Given the description of an element on the screen output the (x, y) to click on. 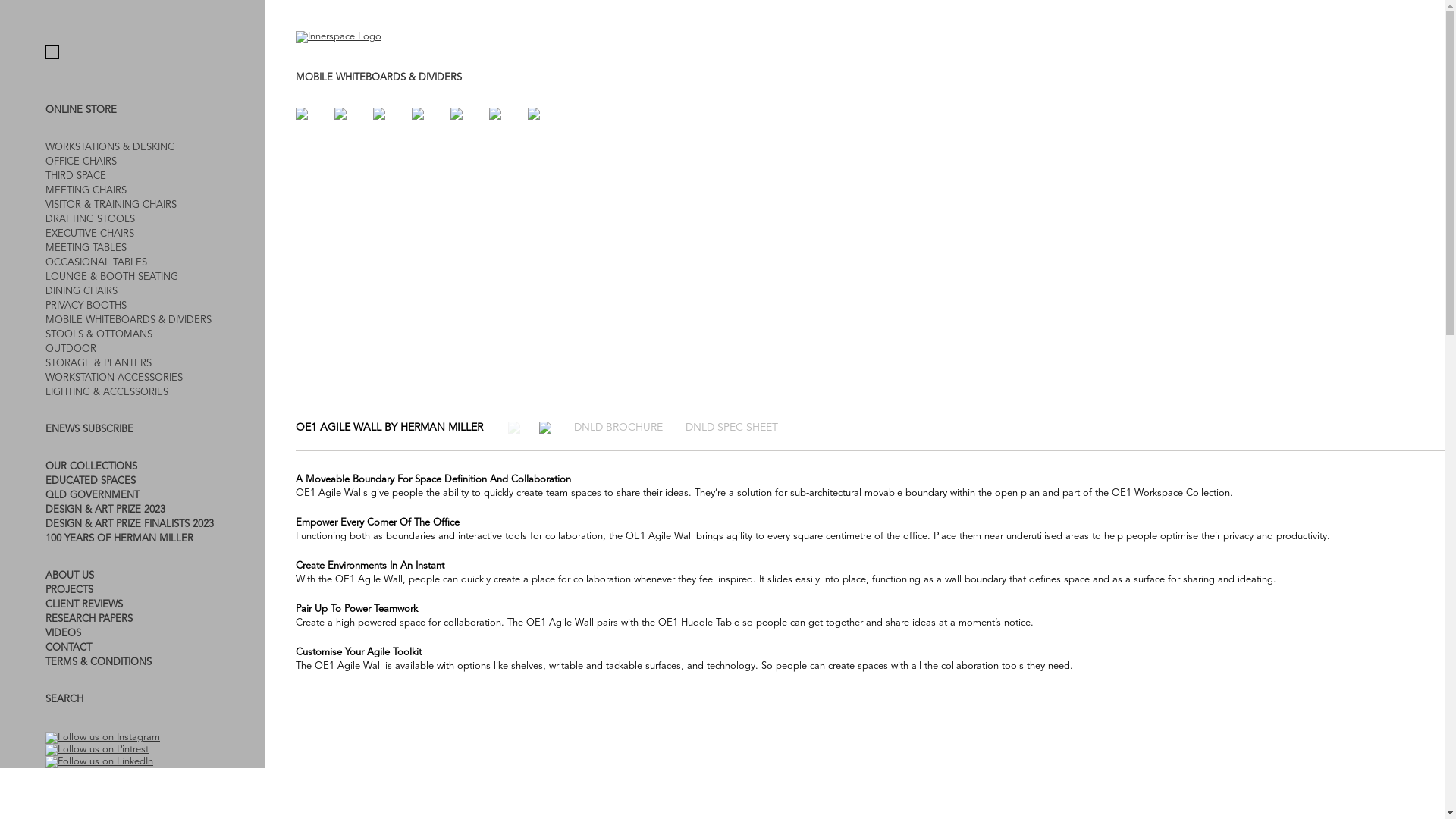
OUR COLLECTIONS Element type: text (91, 466)
CLIENT REVIEWS Element type: text (83, 604)
OCCASIONAL TABLES Element type: text (96, 262)
STORAGE & PLANTERS Element type: text (98, 363)
PROJECTS Element type: text (69, 589)
RESEARCH PAPERS Element type: text (88, 618)
100 YEARS OF HERMAN MILLER Element type: text (119, 538)
STOOLS & OTTOMANS Element type: text (98, 334)
DRAFTING STOOLS Element type: text (89, 219)
MEETING TABLES Element type: text (85, 247)
VIDEOS Element type: text (63, 633)
THIRD SPACE Element type: text (75, 175)
DESIGN & ART PRIZE 2023 Element type: text (105, 509)
OUTDOOR Element type: text (70, 348)
LIGHTING & ACCESSORIES Element type: text (106, 391)
EXECUTIVE CHAIRS Element type: text (89, 233)
CONTACT Element type: text (68, 647)
DESIGN & ART PRIZE FINALISTS 2023 Element type: text (129, 523)
DNLD SPEC SHEET Element type: text (731, 426)
EDUCATED SPACES Element type: text (90, 480)
PRIVACY BOOTHS Element type: text (85, 305)
WORKSTATION ACCESSORIES Element type: text (113, 377)
TERMS & CONDITIONS Element type: text (98, 661)
OFFICE CHAIRS Element type: text (80, 161)
ONLINE STORE Element type: text (80, 109)
MOBILE WHITEBOARDS & DIVIDERS Element type: text (128, 319)
ENEWS SUBSCRIBE Element type: text (89, 429)
DNLD BROCHURE Element type: text (618, 426)
MEETING CHAIRS Element type: text (85, 190)
QLD GOVERNMENT Element type: text (92, 495)
LOUNGE & BOOTH SEATING Element type: text (111, 276)
ABOUT US Element type: text (69, 575)
SEARCH Element type: text (64, 699)
MOBILE WHITEBOARDS & DIVIDERS Element type: text (378, 77)
VISITOR & TRAINING CHAIRS Element type: text (110, 204)
WORKSTATIONS & DESKING Element type: text (110, 147)
DINING CHAIRS Element type: text (81, 291)
